Given the description of an element on the screen output the (x, y) to click on. 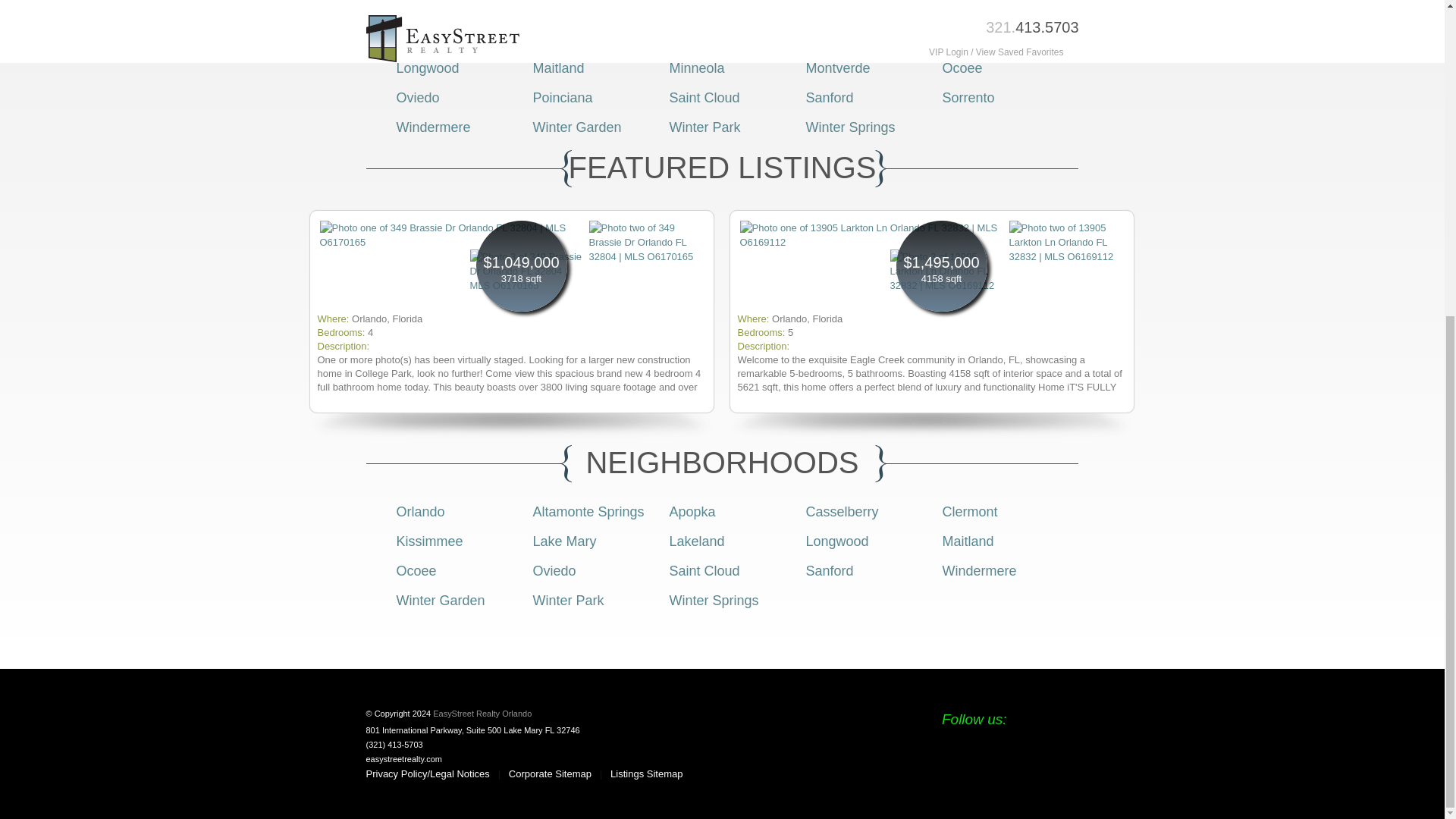
Sorrento (968, 97)
View Minneola, FL homes for sale. (695, 68)
View Kissimmee, FL homes for sale. (701, 38)
Altamonte Springs (587, 511)
Saint Cloud (703, 97)
View Apopka, FL homes for sale. (691, 8)
View Chuluota, FL homes for sale. (968, 8)
Winter Garden (576, 127)
Kissimmee (701, 38)
Apopka (691, 8)
